Given the description of an element on the screen output the (x, y) to click on. 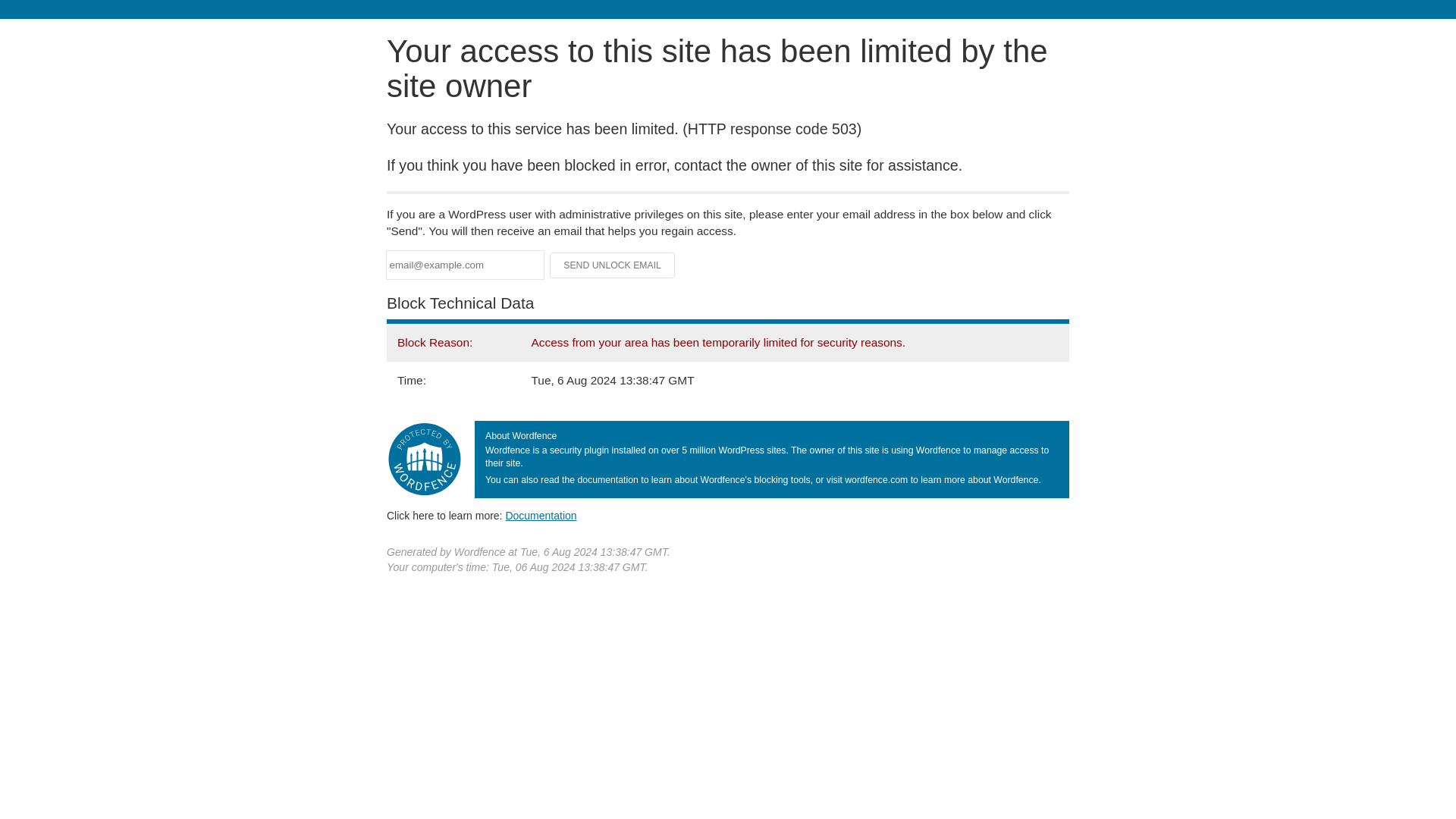
Documentation (540, 515)
Send Unlock Email (612, 265)
Send Unlock Email (612, 265)
